Given the description of an element on the screen output the (x, y) to click on. 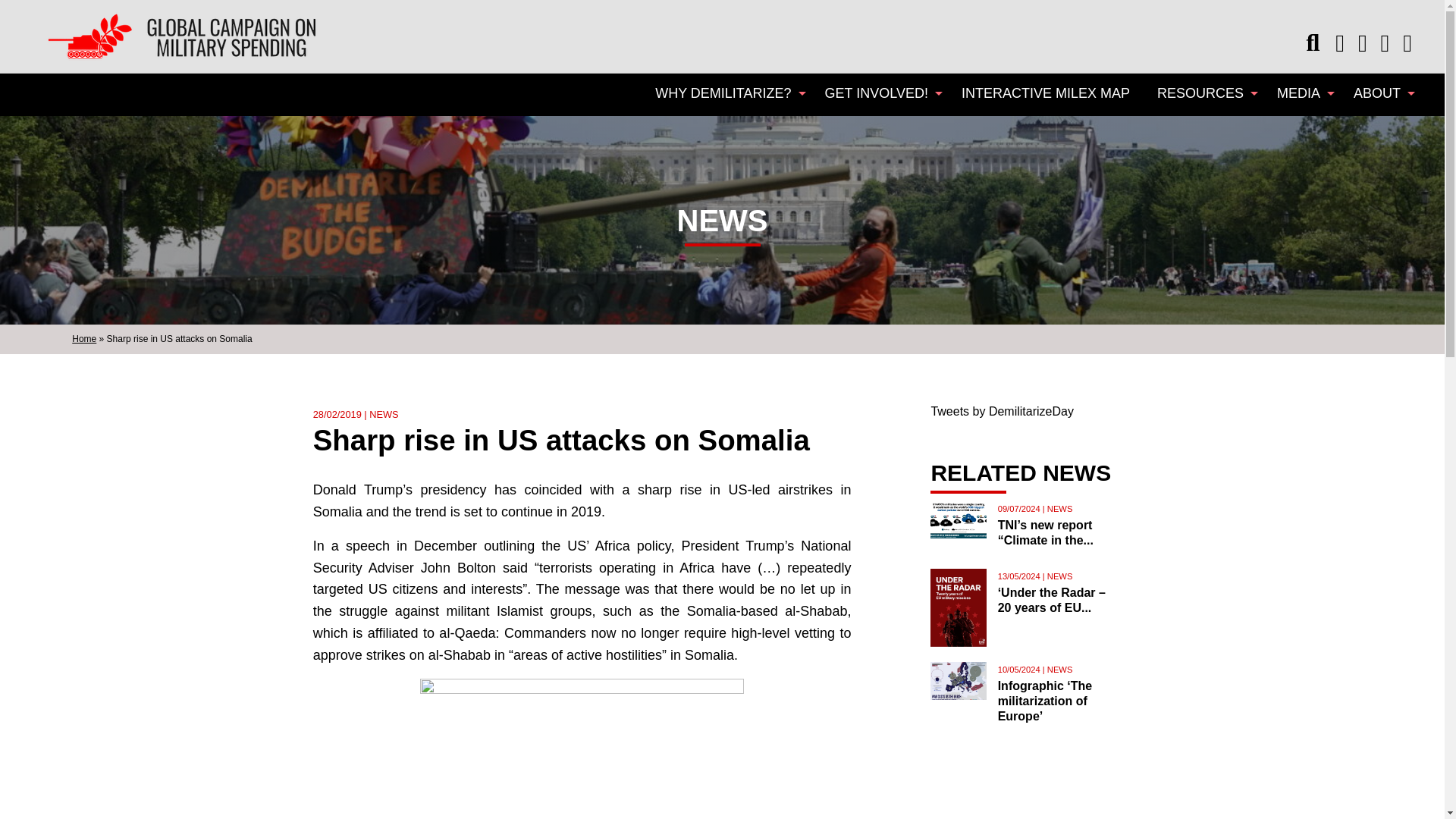
WHY DEMILITARIZE? (726, 91)
RESOURCES (1203, 91)
GET INVOLVED! (879, 91)
INTERACTIVE MILEX MAP (1045, 91)
